Given the description of an element on the screen output the (x, y) to click on. 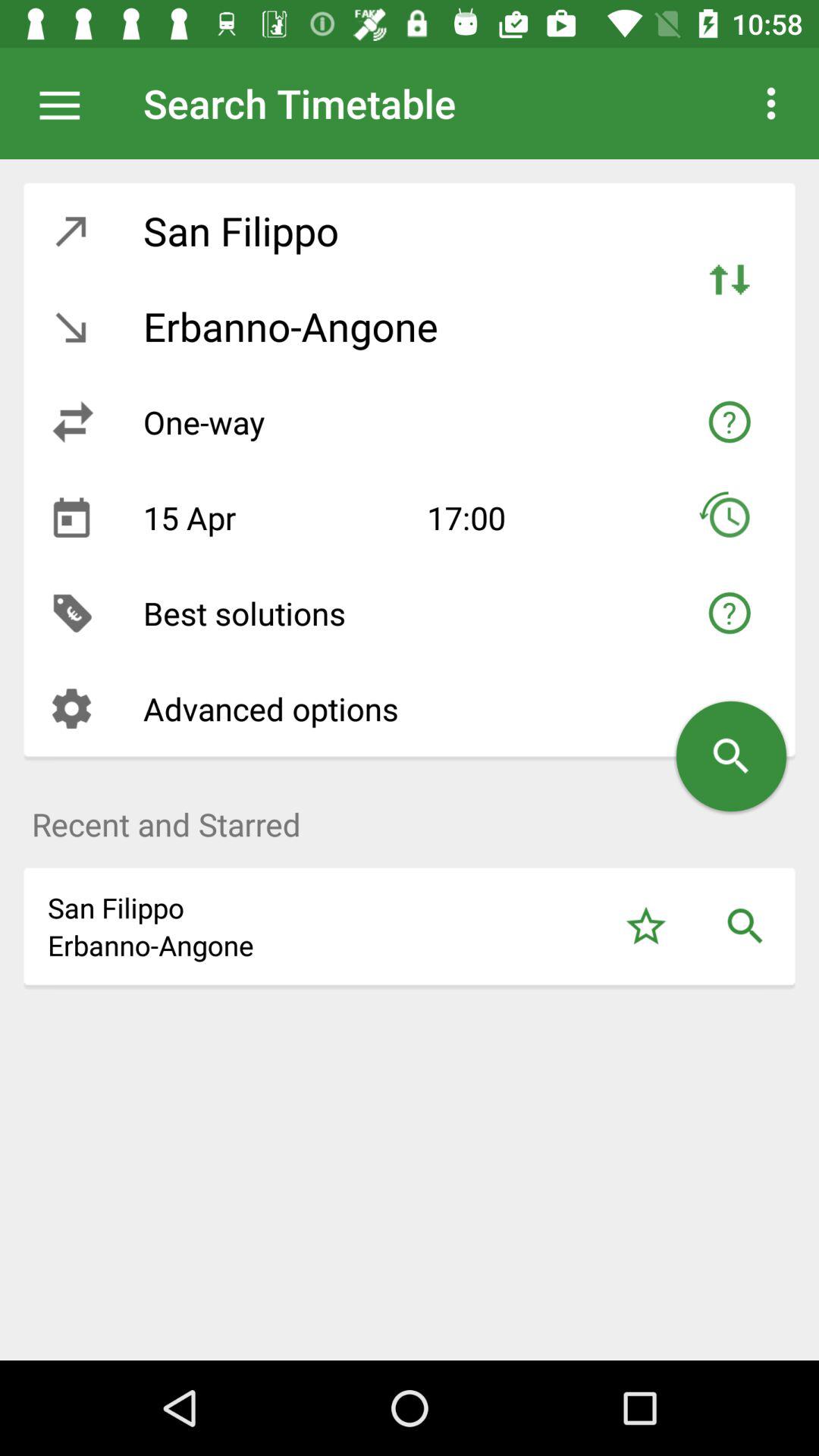
open the item to the left of 17:00 item (273, 517)
